Given the description of an element on the screen output the (x, y) to click on. 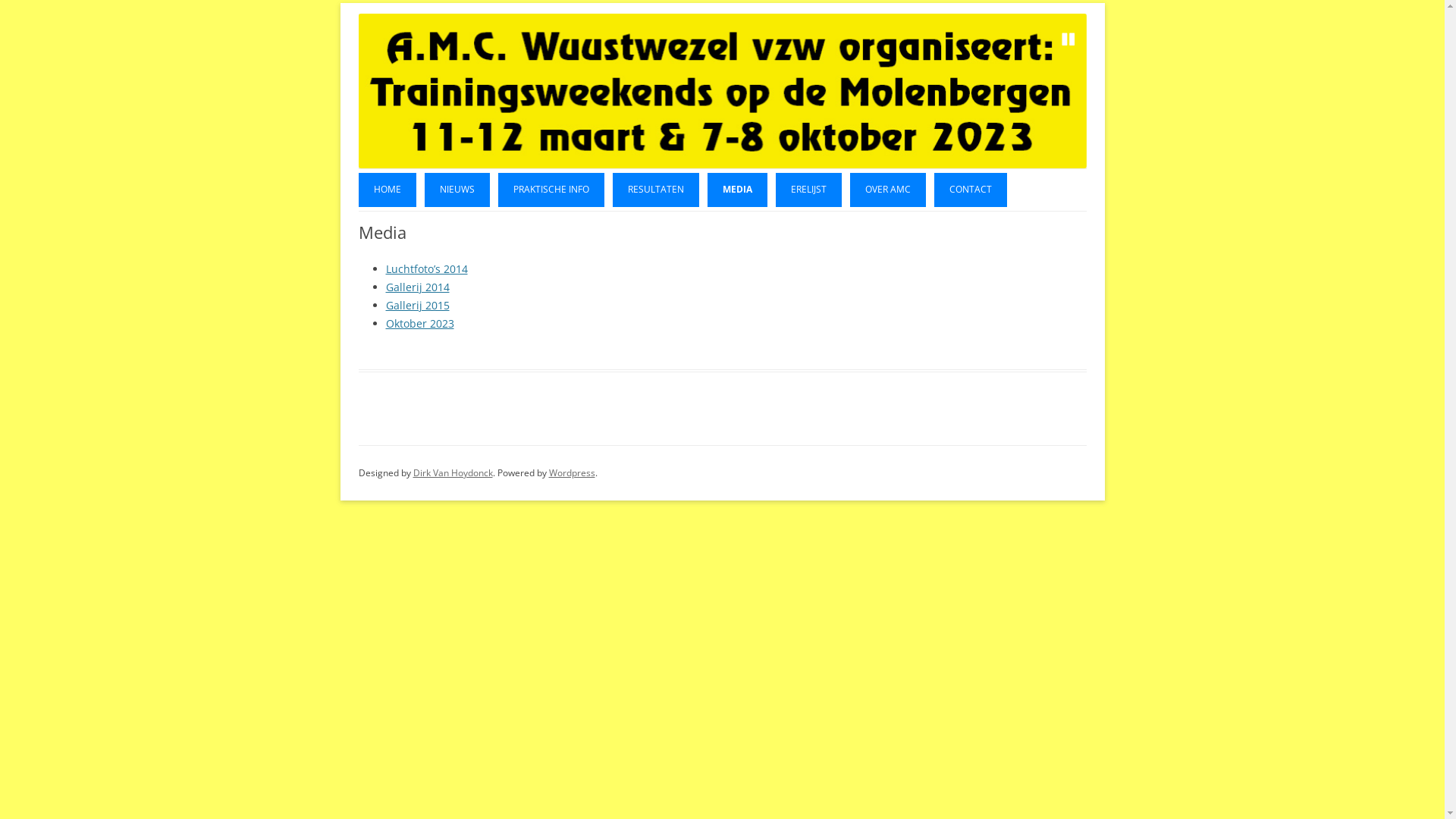
Gallerij 2014 Element type: text (416, 286)
Gallerij 2015 Element type: text (416, 305)
Dirk Van Hoydonck Element type: text (452, 472)
MEDIA Element type: text (736, 189)
HOME Element type: text (386, 189)
Spring naar de inhoud Element type: text (1085, 31)
ERELIJST Element type: text (807, 189)
Stop Element type: text (1068, 39)
OVER AMC Element type: text (887, 189)
CONTACT Element type: text (970, 189)
Wordpress Element type: text (572, 472)
RESULTATEN Element type: text (655, 189)
Oktober 2023 Element type: text (419, 323)
PRAKTISCHE INFO Element type: text (550, 189)
NIEUWS Element type: text (456, 189)
